Given the description of an element on the screen output the (x, y) to click on. 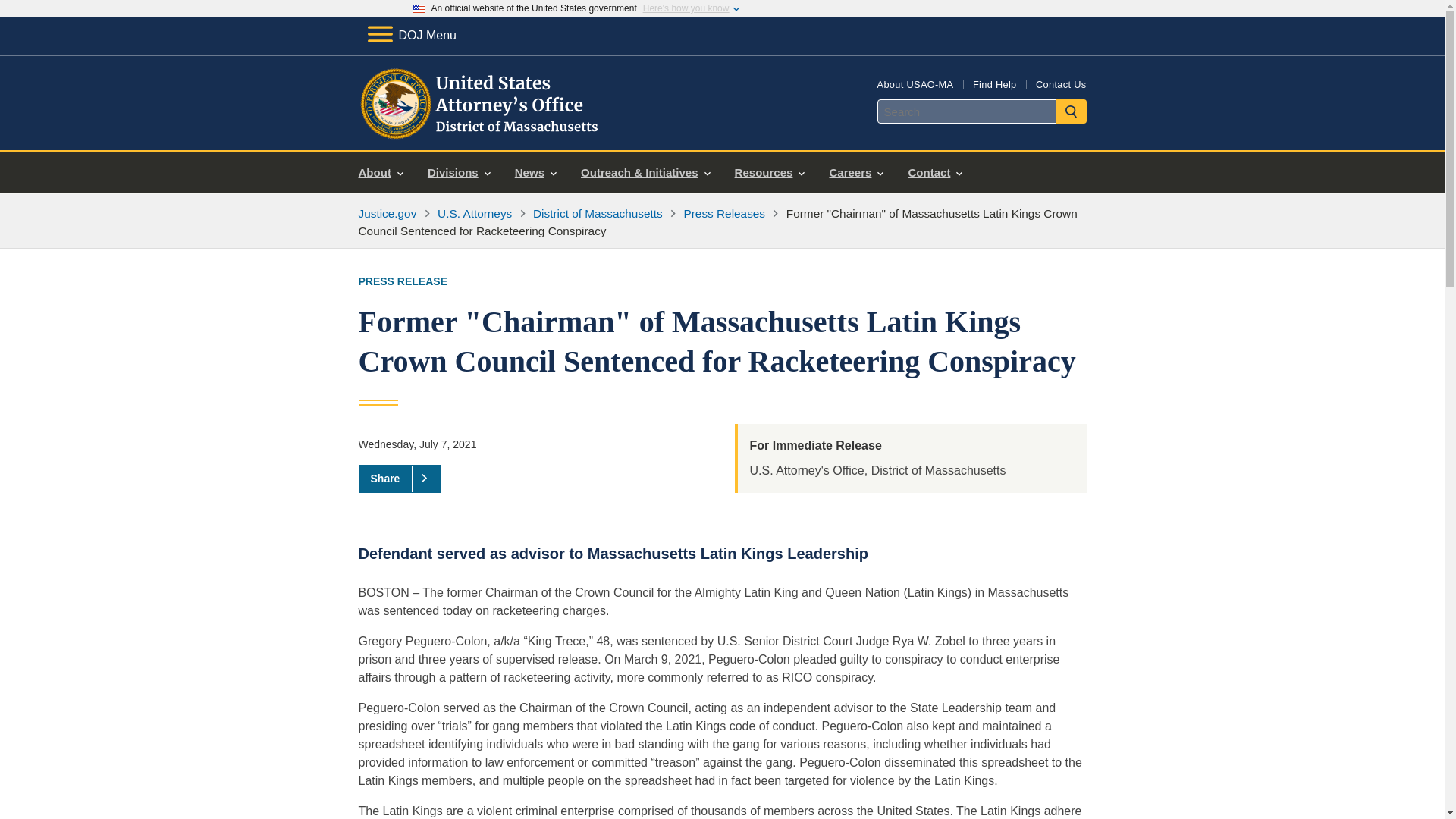
Contact (934, 173)
Home (481, 132)
DOJ Menu (411, 35)
District of Massachusetts (597, 213)
Divisions (458, 173)
Share (398, 478)
Here's how you know (686, 8)
News (535, 173)
About USAO-MA (915, 84)
U.S. Attorneys (475, 213)
